Given the description of an element on the screen output the (x, y) to click on. 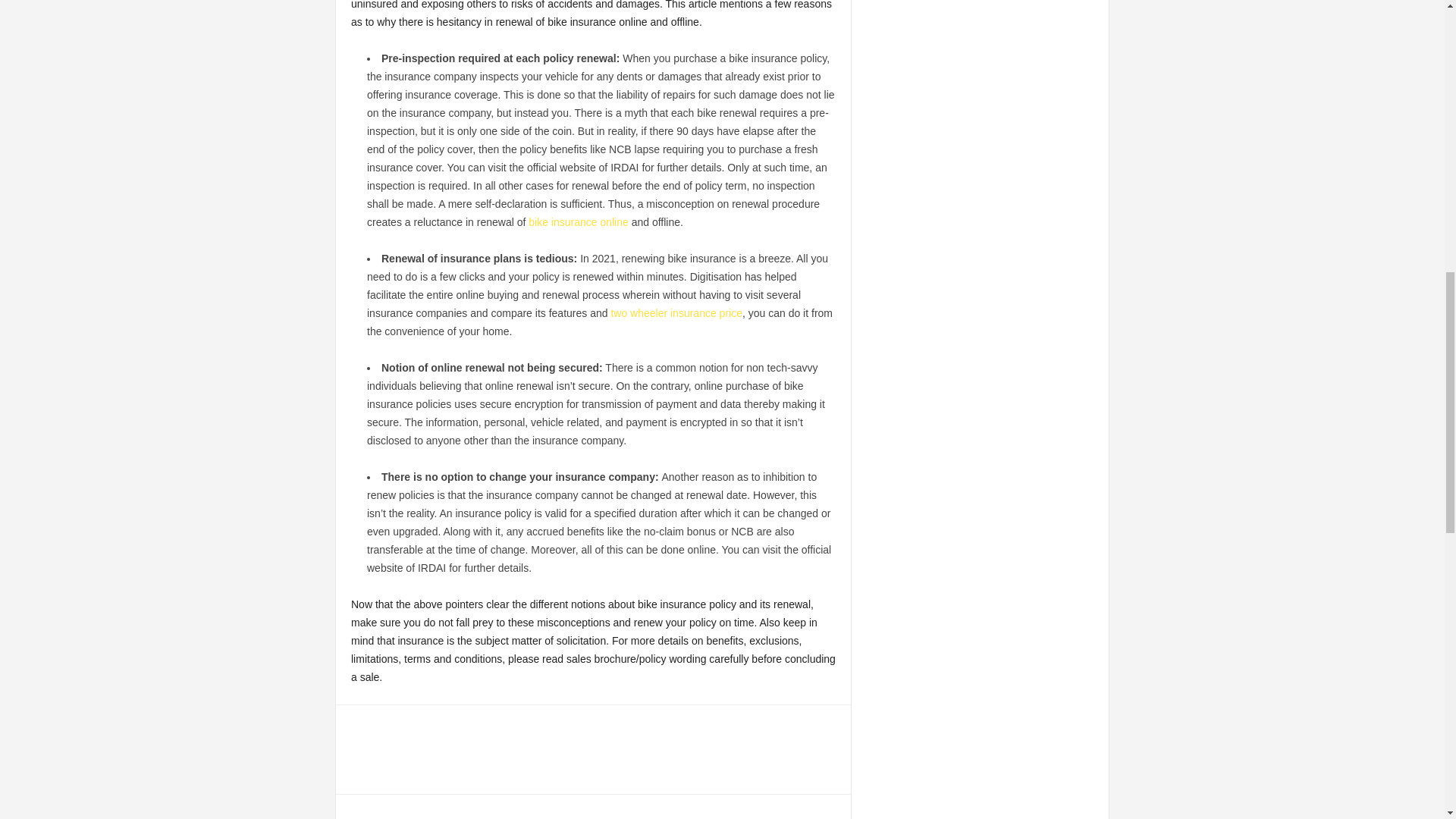
bike insurance online (578, 222)
two wheeler insurance price (676, 313)
bottomFacebookLike (375, 729)
